Given the description of an element on the screen output the (x, y) to click on. 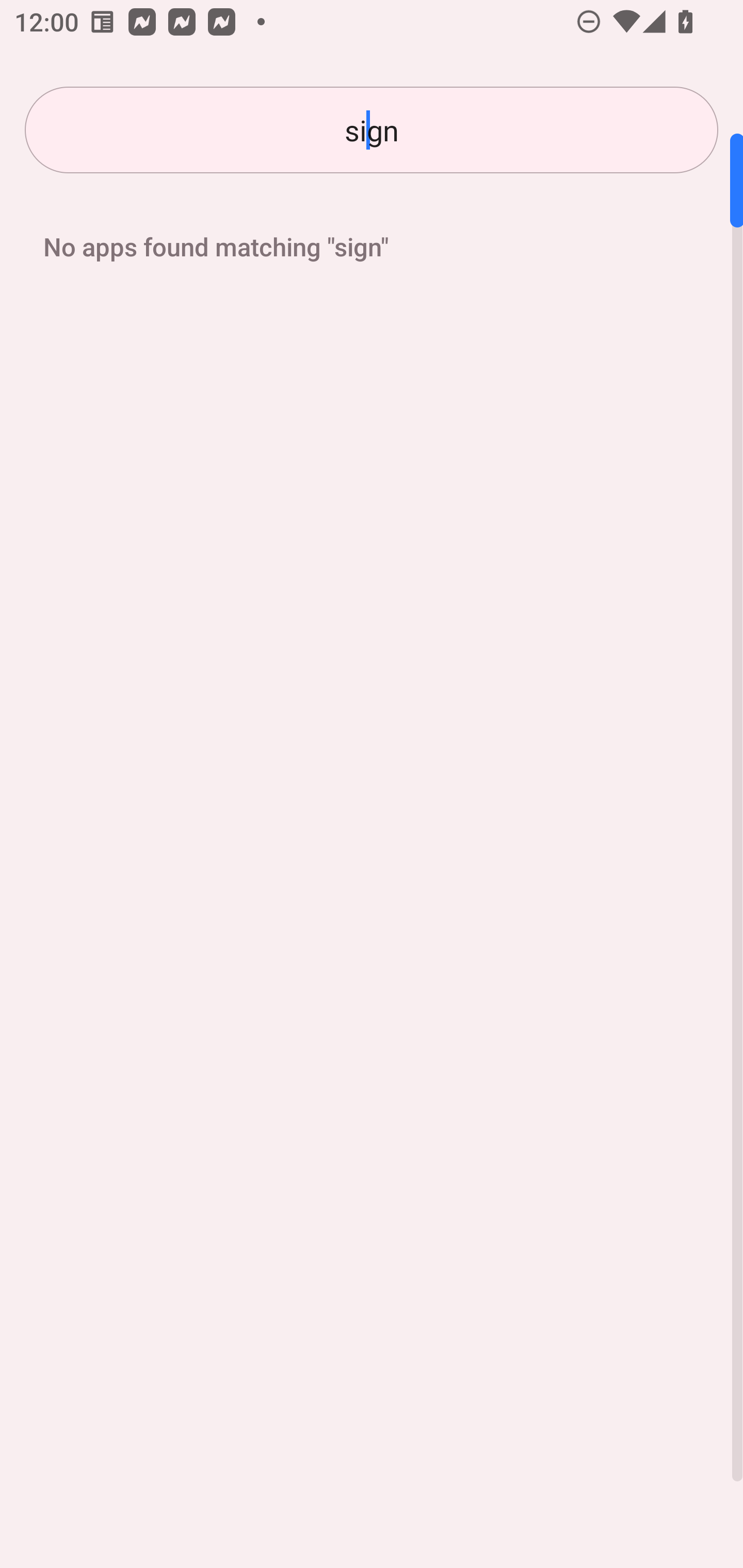
sign (371, 130)
